Given the description of an element on the screen output the (x, y) to click on. 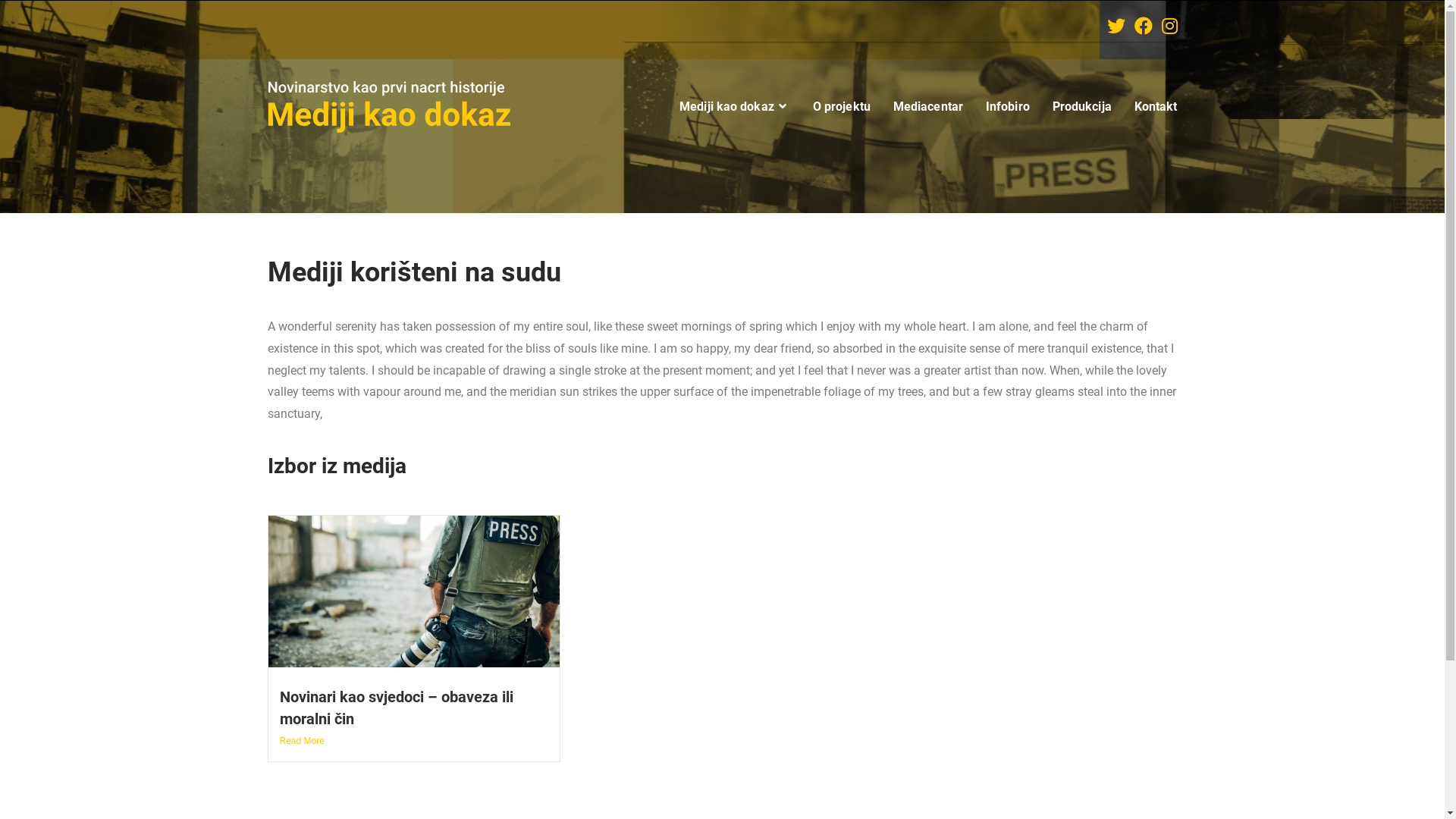
Infobiro Element type: text (1007, 106)
Kontakt Element type: text (1156, 106)
O projektu Element type: text (841, 106)
Mediacentar Element type: text (927, 106)
Mediji kao dokaz Element type: text (734, 106)
Produkcija Element type: text (1082, 106)
Read More Element type: text (413, 741)
